Given the description of an element on the screen output the (x, y) to click on. 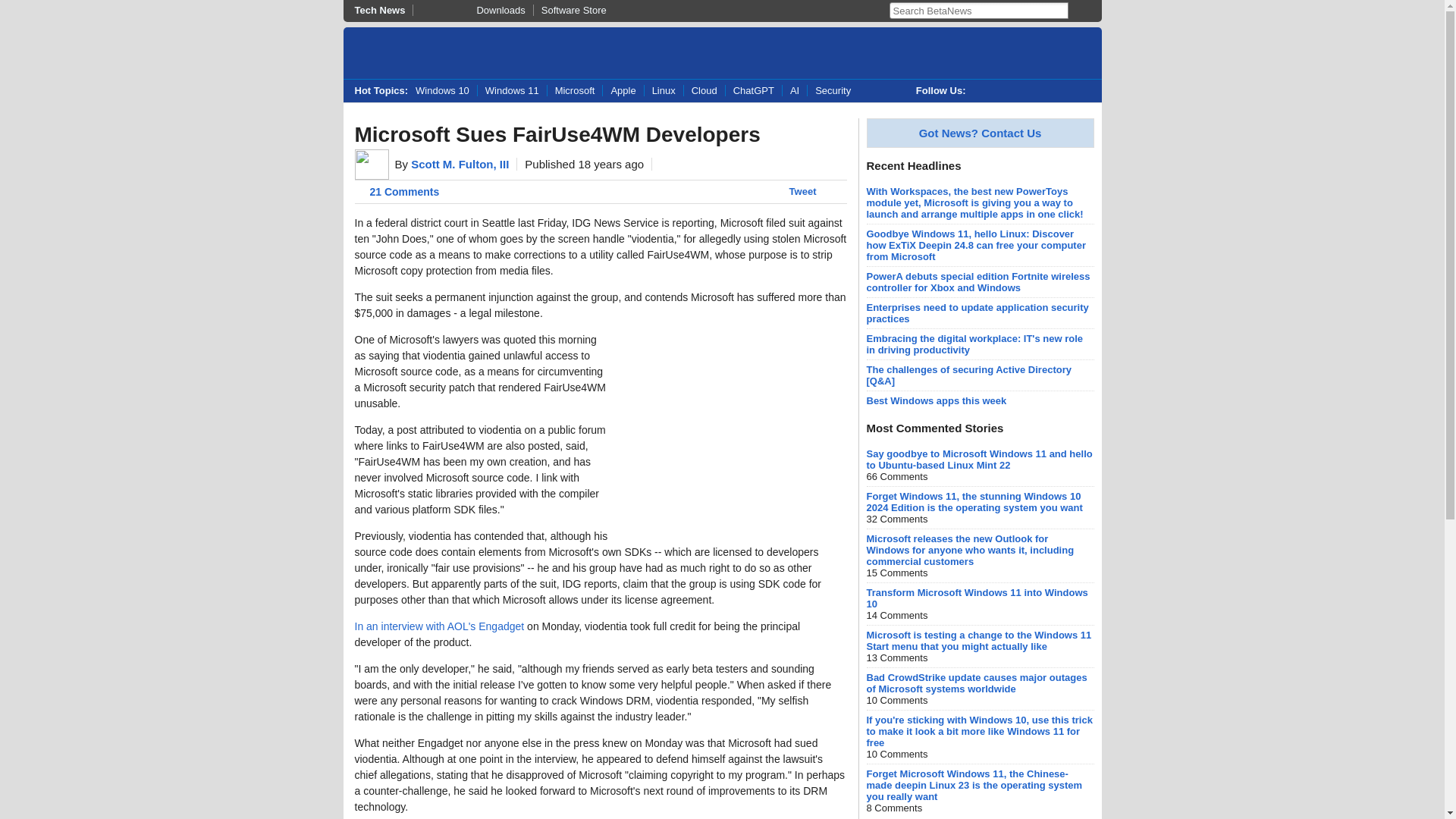
AI (793, 90)
Microsoft (574, 90)
Twitter (984, 91)
Windows 11 (512, 90)
Security (832, 90)
Search (1076, 10)
RSS (1078, 91)
Scott M. Fulton, III (459, 164)
